Given the description of an element on the screen output the (x, y) to click on. 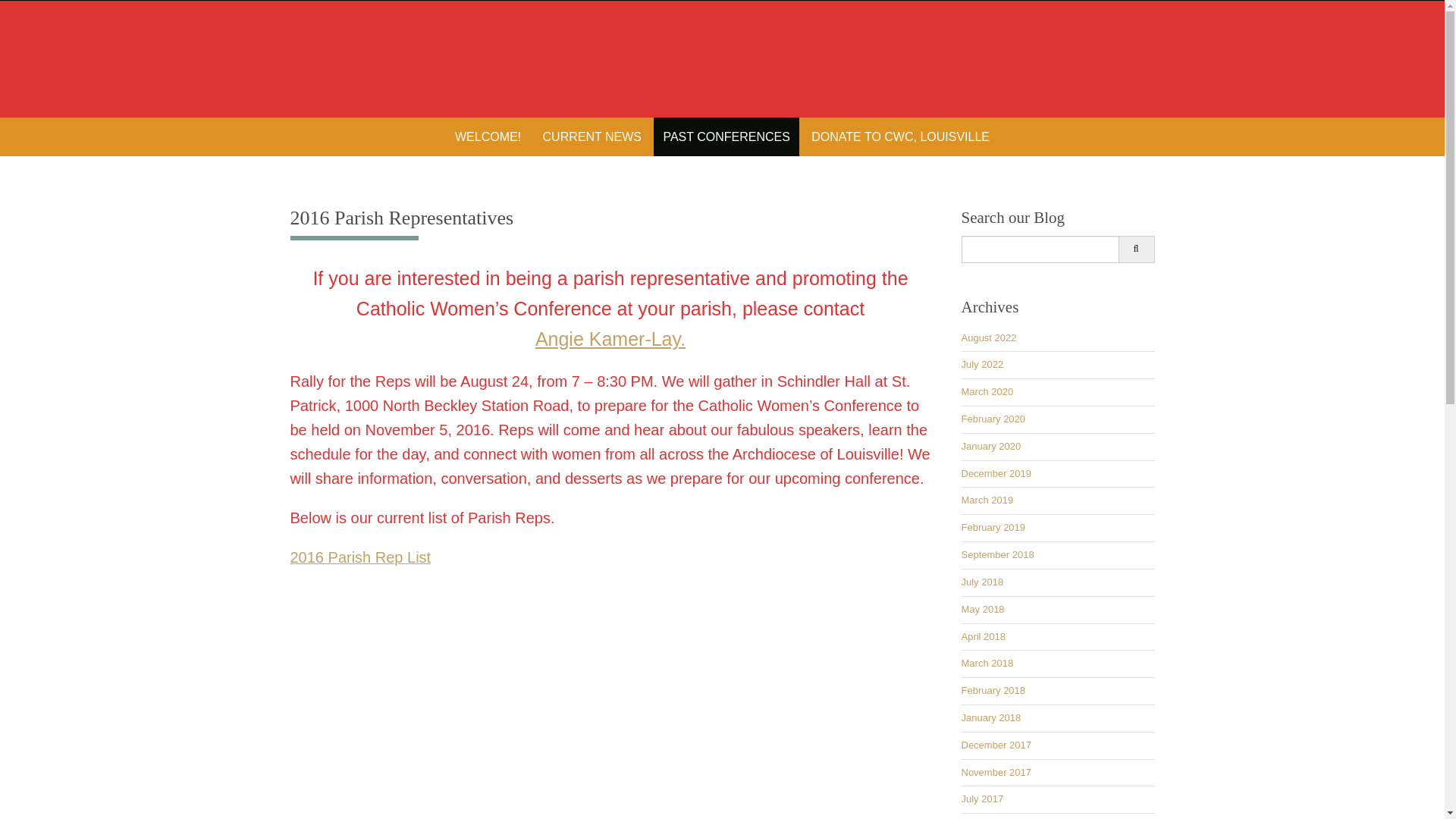
July 2018 (982, 582)
Angie Kamer-Lay. (610, 338)
May 2018 (982, 609)
December 2019 (996, 473)
March 2020 (986, 391)
PAST CONFERENCES (725, 136)
February 2018 (993, 690)
2016 Parish Rep List (359, 559)
March 2019 (986, 500)
February 2020 (993, 419)
September 2018 (996, 554)
Search (1136, 248)
March 2018 (986, 663)
CURRENT NEWS (592, 136)
July 2022 (982, 364)
